Given the description of an element on the screen output the (x, y) to click on. 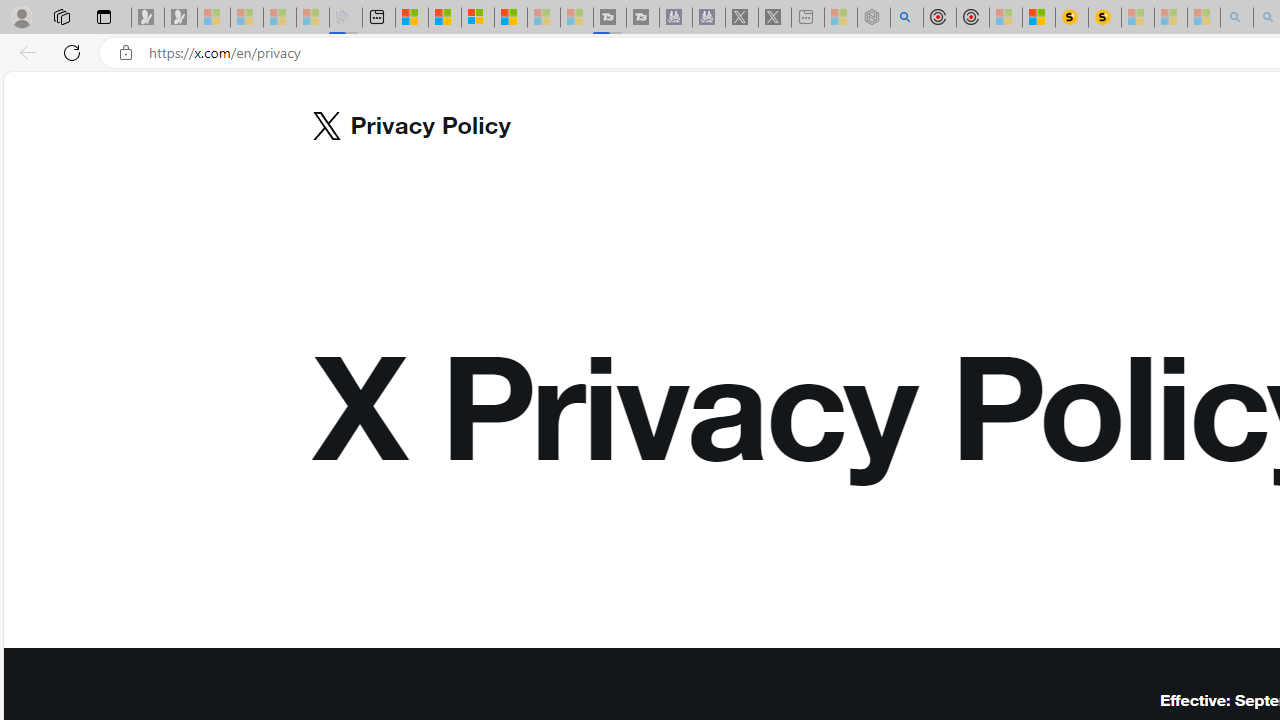
Nordace - Summer Adventures 2024 - Sleeping (873, 17)
poe - Search (906, 17)
Wildlife - MSN - Sleeping (841, 17)
